Given the description of an element on the screen output the (x, y) to click on. 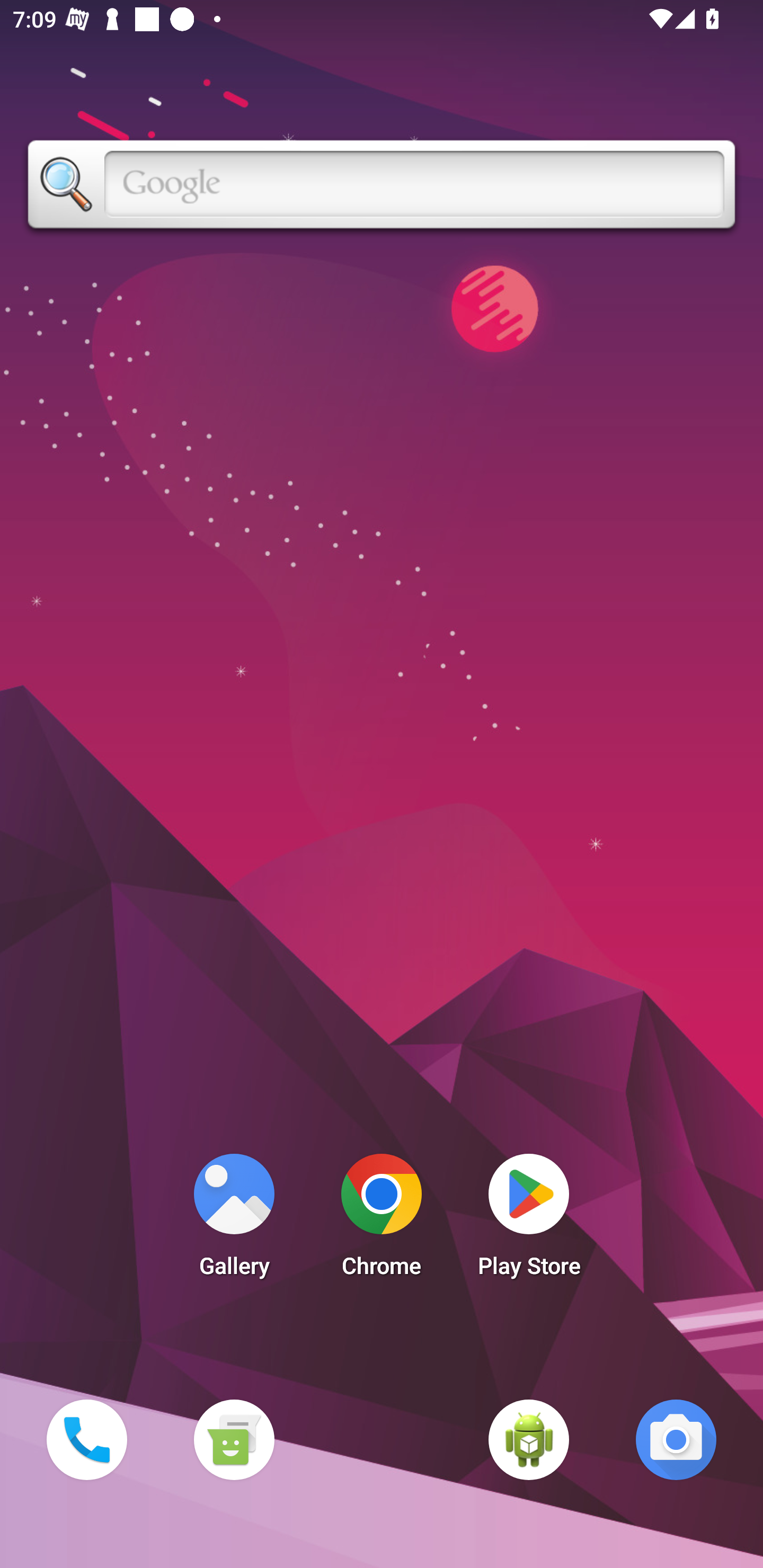
Gallery (233, 1220)
Chrome (381, 1220)
Play Store (528, 1220)
Phone (86, 1439)
Messaging (233, 1439)
WebView Browser Tester (528, 1439)
Camera (676, 1439)
